Given the description of an element on the screen output the (x, y) to click on. 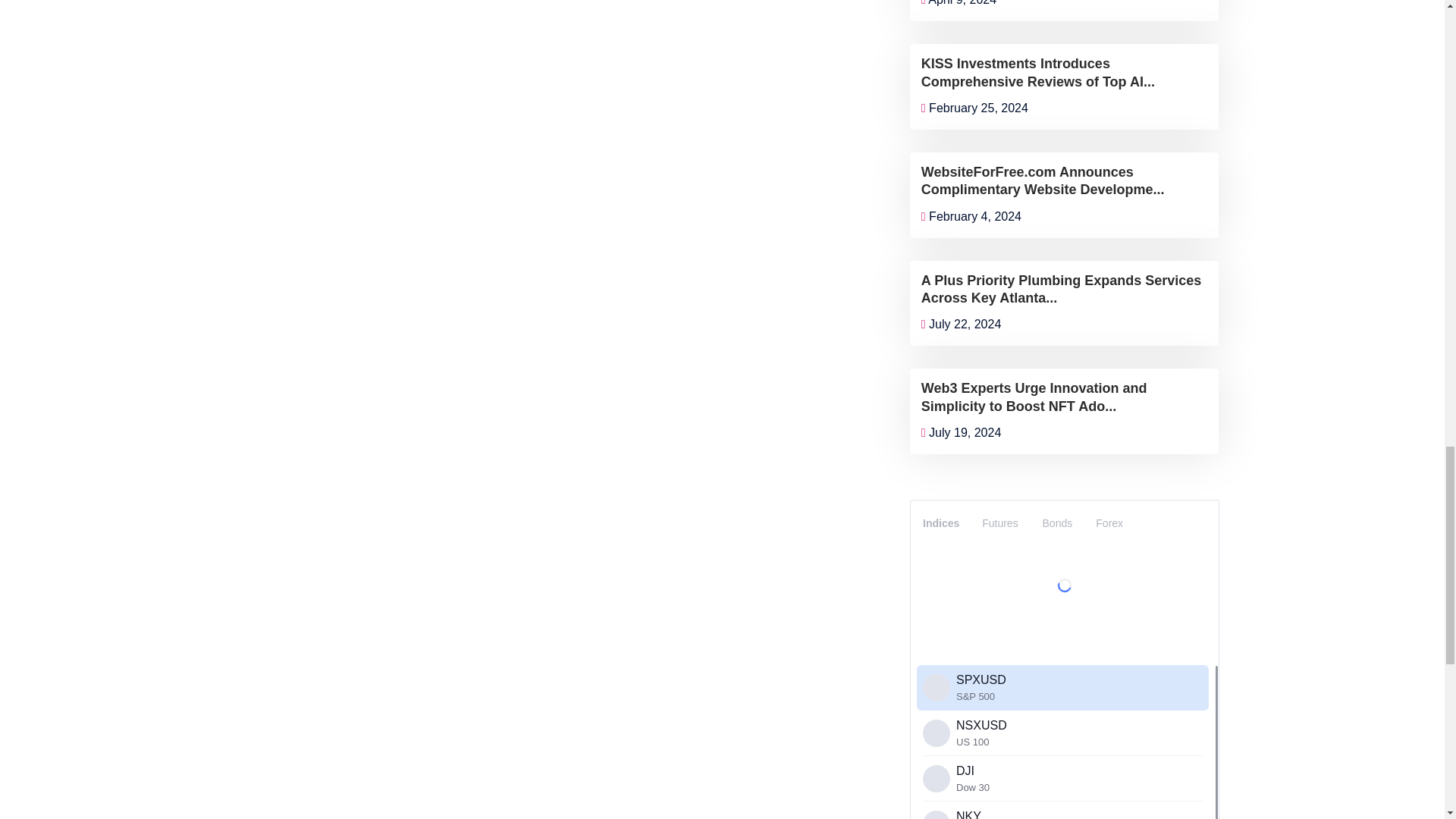
February 25, 2024 (974, 107)
July 22, 2024 (961, 323)
April 9, 2024 (958, 2)
February 4, 2024 (971, 215)
